Given the description of an element on the screen output the (x, y) to click on. 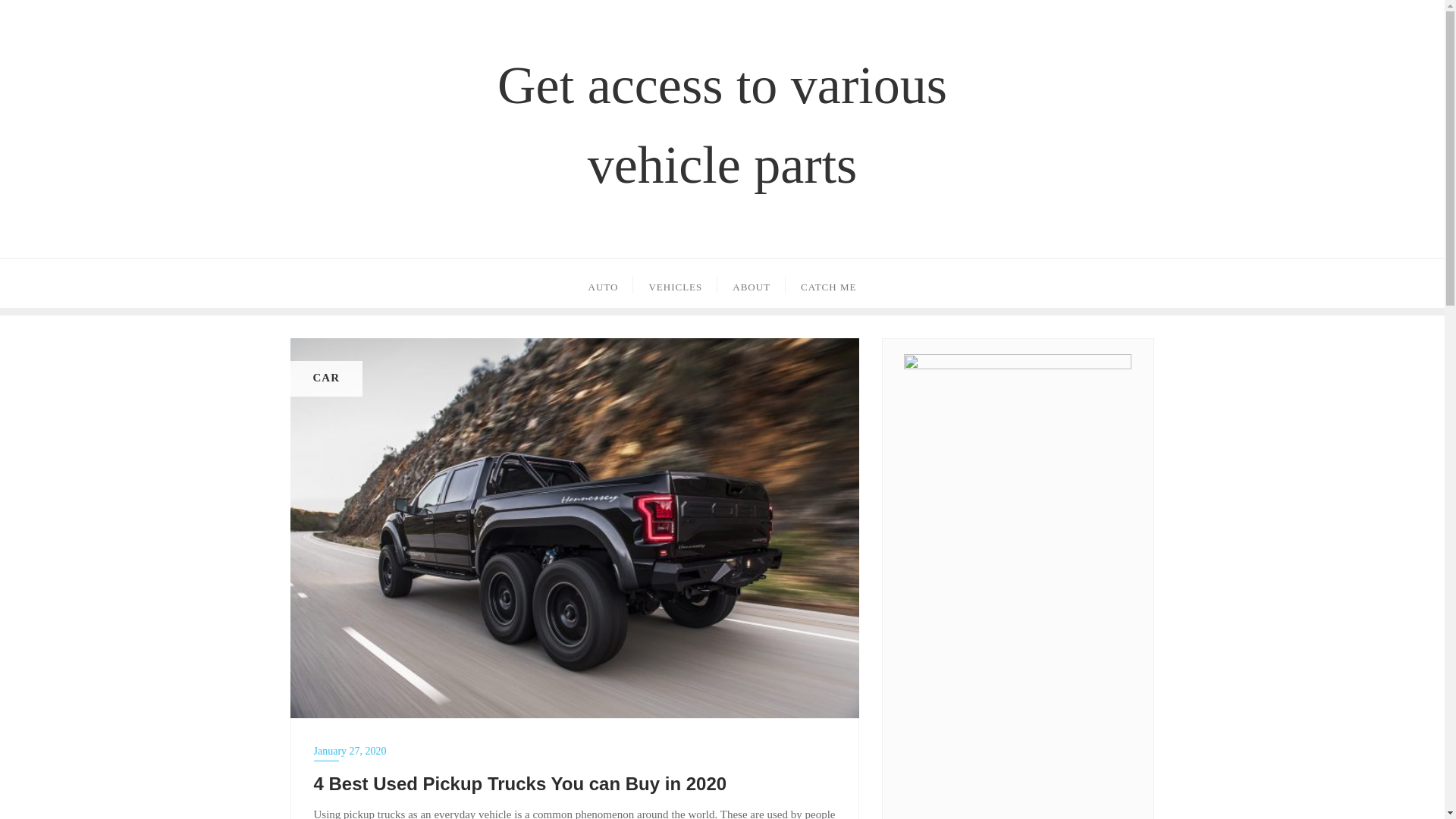
January 27, 2020 (574, 751)
AUTO (603, 282)
ABOUT (751, 282)
Get access to various vehicle parts (721, 124)
VEHICLES (675, 282)
CATCH ME (828, 282)
